Given the description of an element on the screen output the (x, y) to click on. 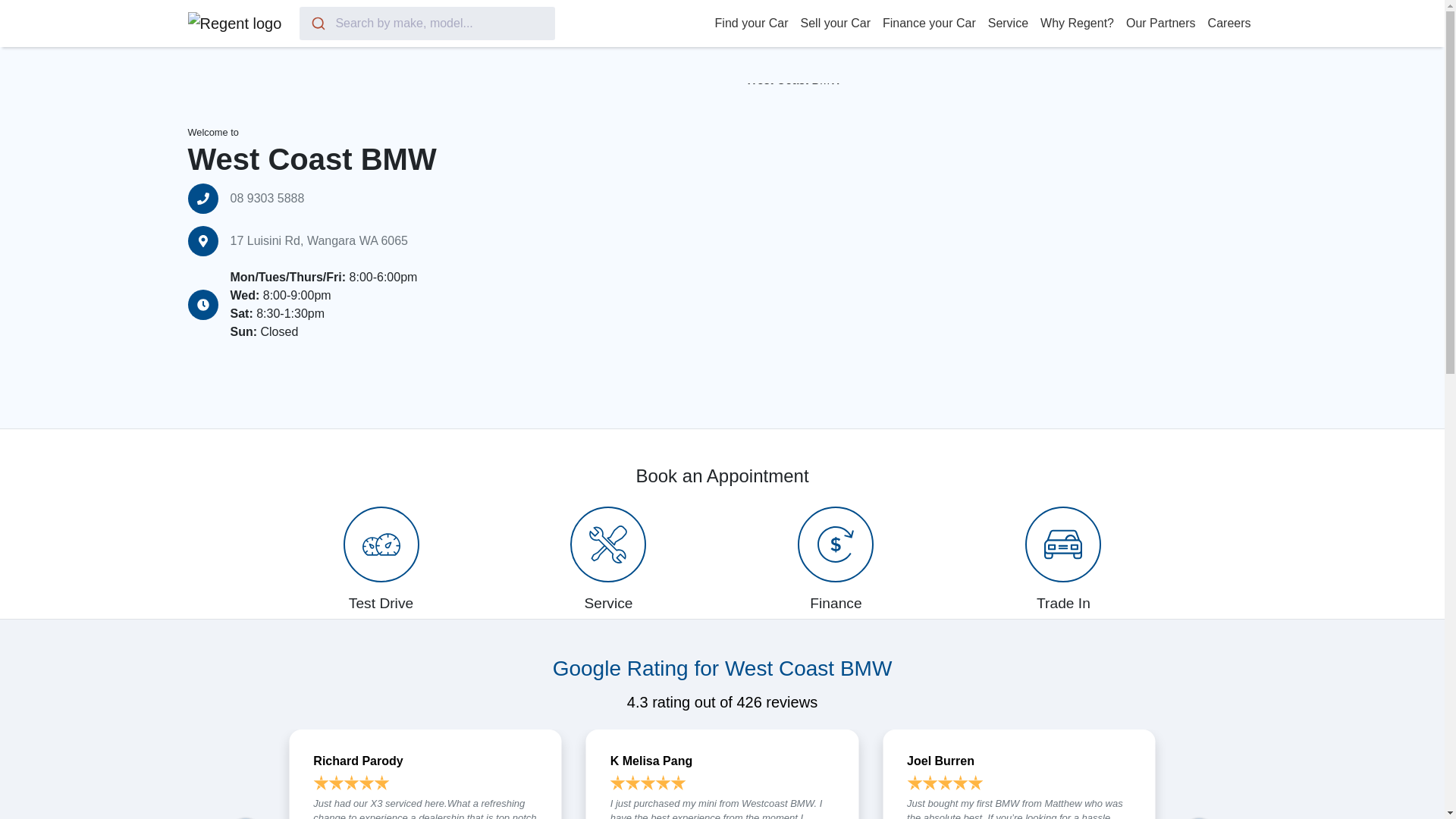
Find your Car (751, 23)
Finance (835, 558)
Why Regent? (1076, 23)
Careers (1229, 23)
Our Partners (1160, 23)
17 Luisini Rd, Wangara WA 6065 (319, 240)
Test Drive (381, 558)
Submit (316, 23)
Sell your Car (835, 23)
Service (1007, 23)
Trade In (1063, 558)
Finance your Car (928, 23)
08 9303 5888 (267, 198)
Service (609, 558)
